Given the description of an element on the screen output the (x, y) to click on. 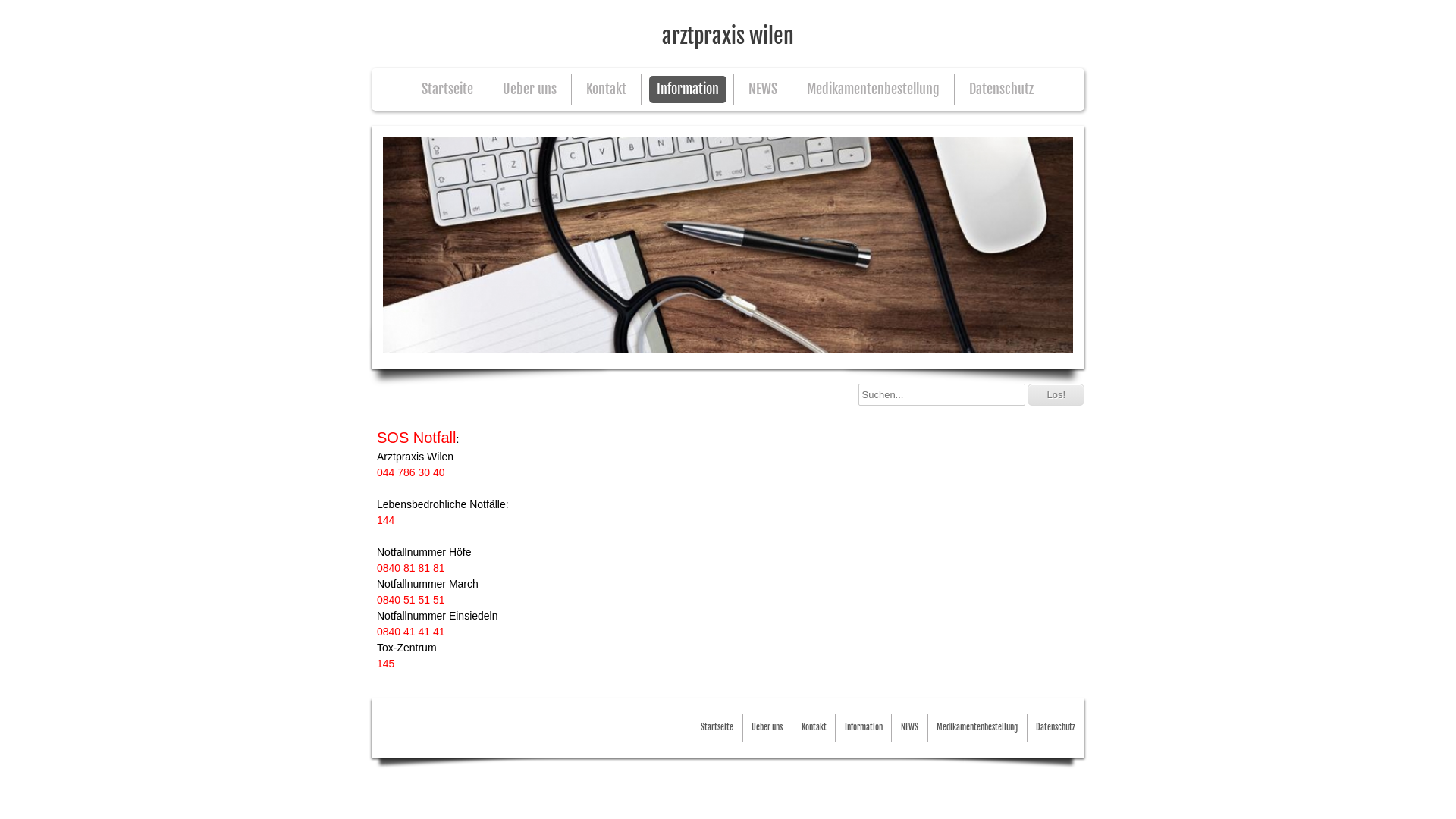
Ueber uns Element type: text (766, 727)
Startseite Element type: text (447, 89)
NEWS Element type: text (762, 89)
Medikamentenbestellung Element type: text (976, 727)
NEWS Element type: text (909, 727)
Datenschutz Element type: text (1001, 89)
Startseite Element type: text (716, 727)
Los! Element type: text (1055, 394)
Medikamentenbestellung Element type: text (873, 89)
Kontakt Element type: text (814, 727)
Information Element type: text (687, 89)
Kontakt Element type: text (605, 89)
Ueber uns Element type: text (529, 89)
Information Element type: text (863, 727)
arztpraxis wilen Element type: text (727, 34)
Datenschutz Element type: text (1055, 727)
